Given the description of an element on the screen output the (x, y) to click on. 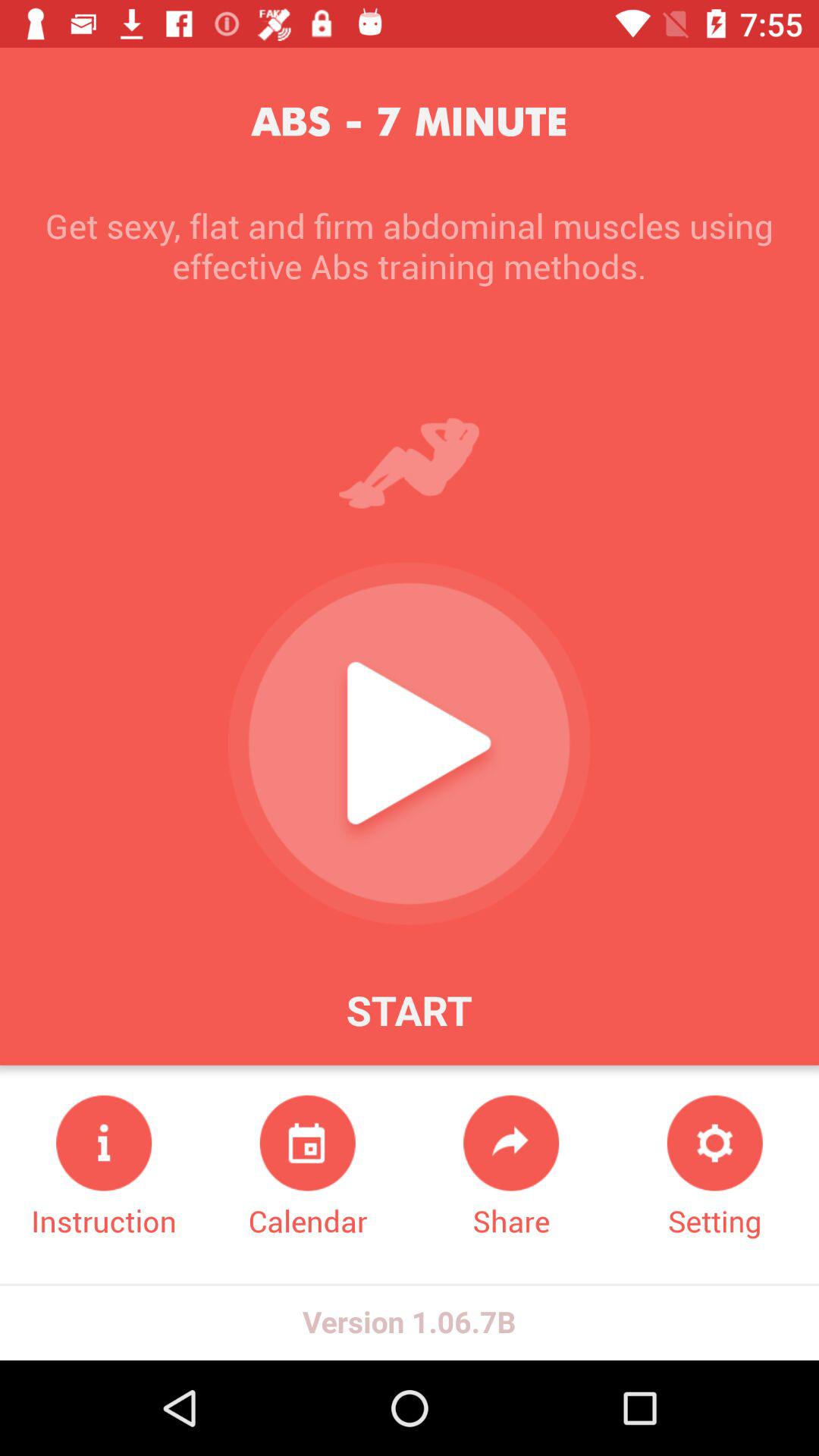
select share (511, 1168)
